Given the description of an element on the screen output the (x, y) to click on. 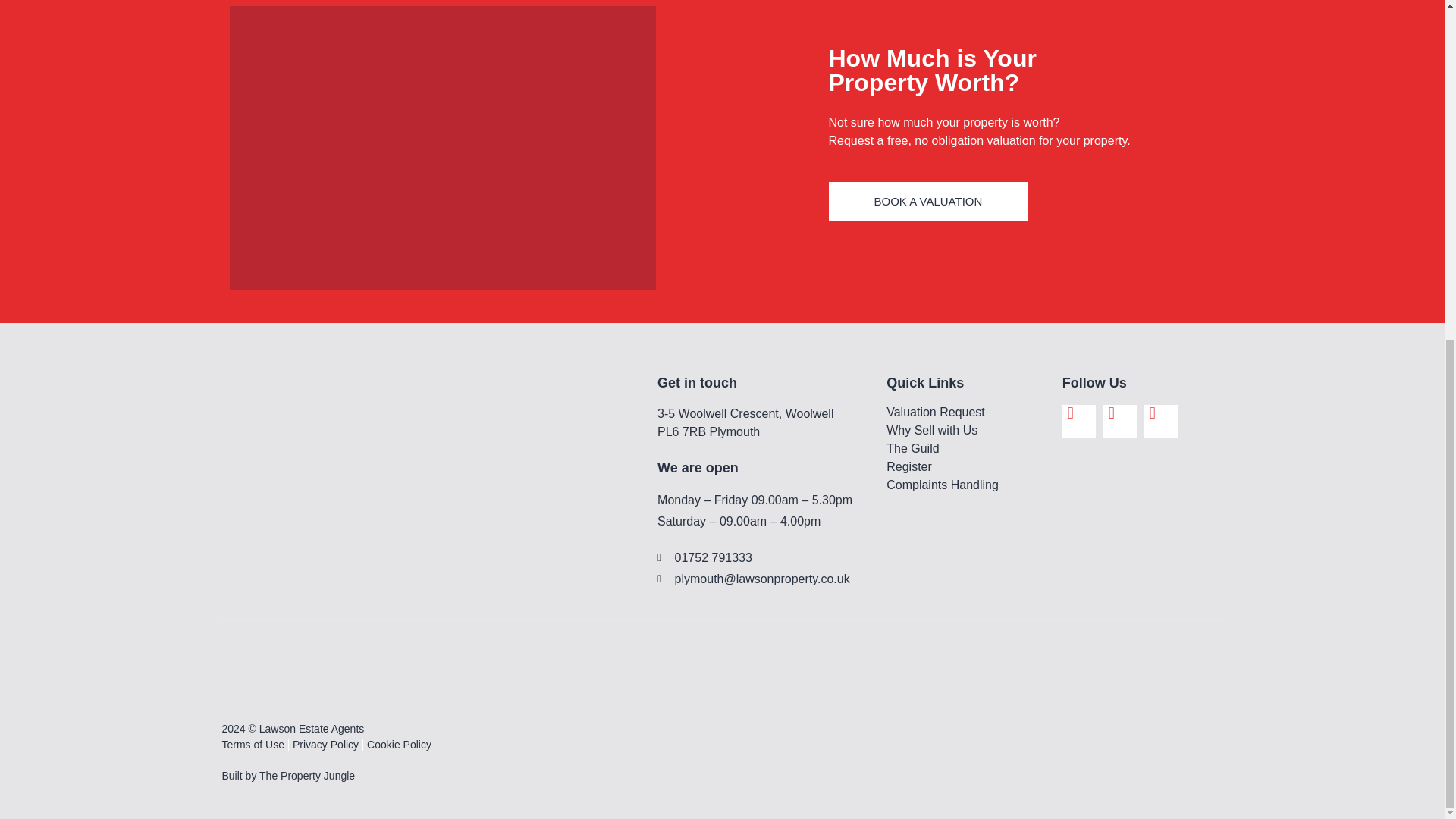
BOOK A VALUATION (927, 200)
